Given the description of an element on the screen output the (x, y) to click on. 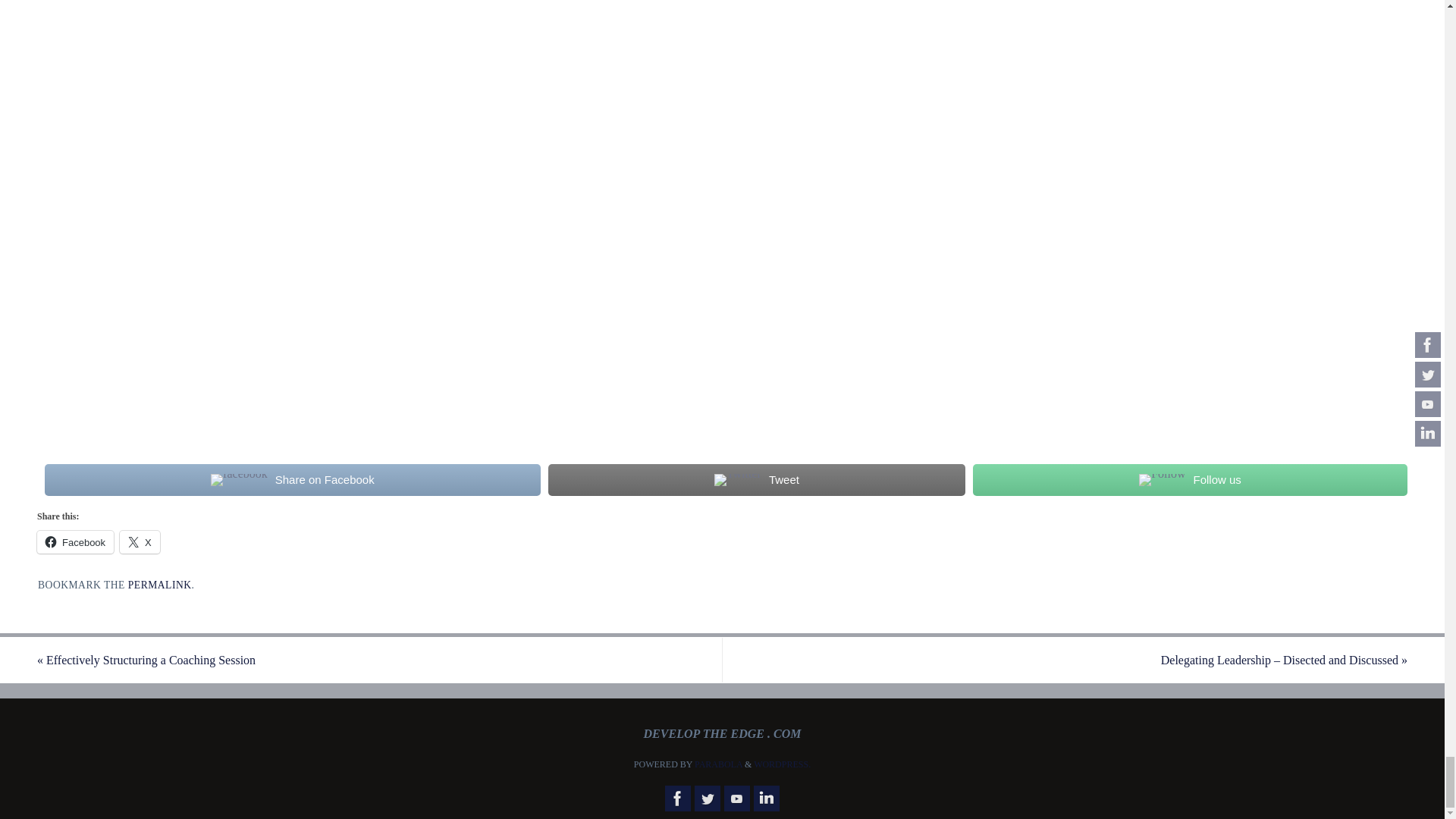
Semantic Personal Publishing Platform (782, 764)
Click to share on X (139, 541)
YouTube (736, 798)
LinkedIn (766, 798)
Twitter (707, 798)
Click to share on Facebook (75, 541)
Parabola Theme by Cryout Creations (718, 764)
Facebook (677, 798)
